Given the description of an element on the screen output the (x, y) to click on. 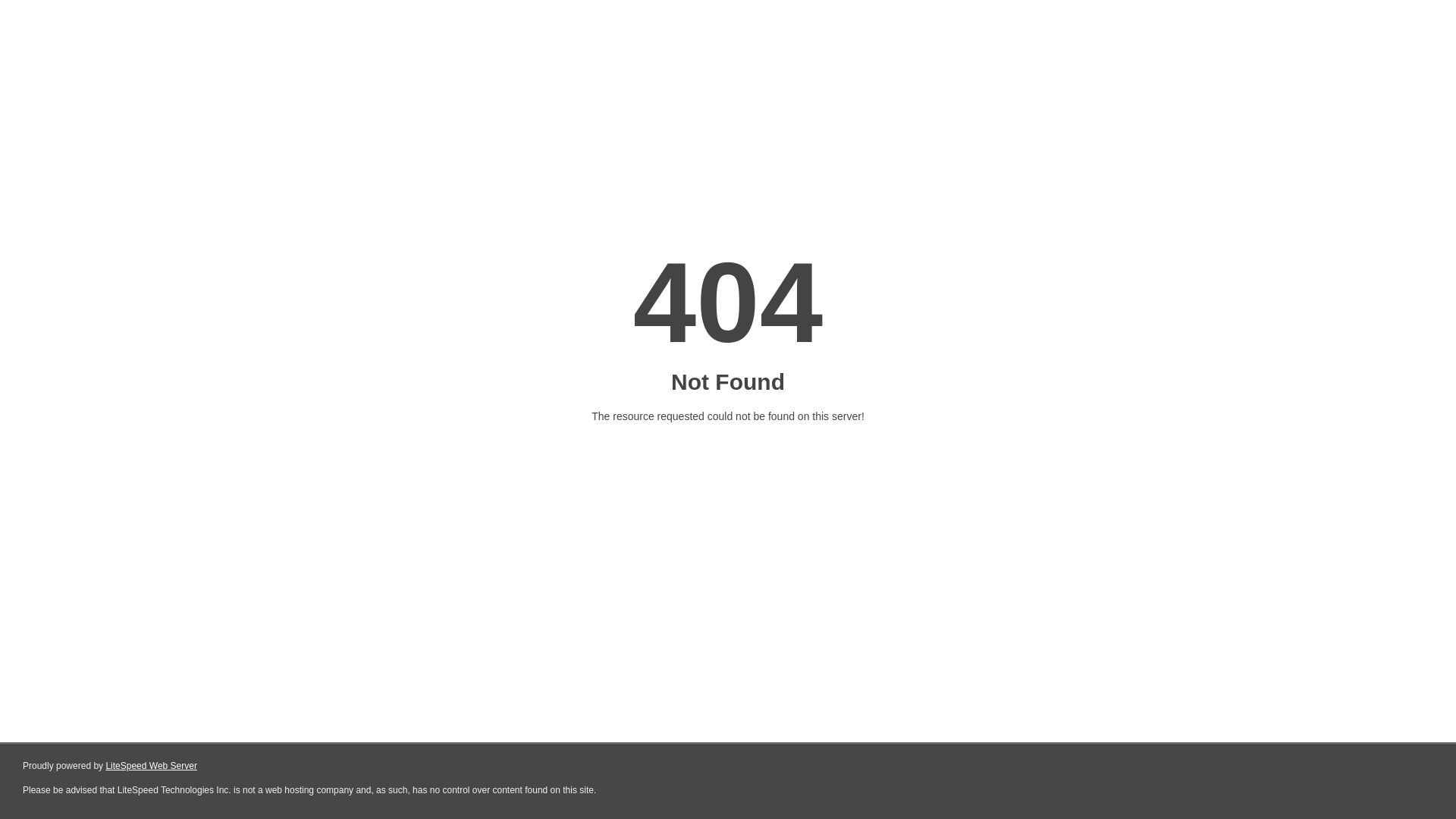
LiteSpeed Web Server Element type: text (151, 765)
